Given the description of an element on the screen output the (x, y) to click on. 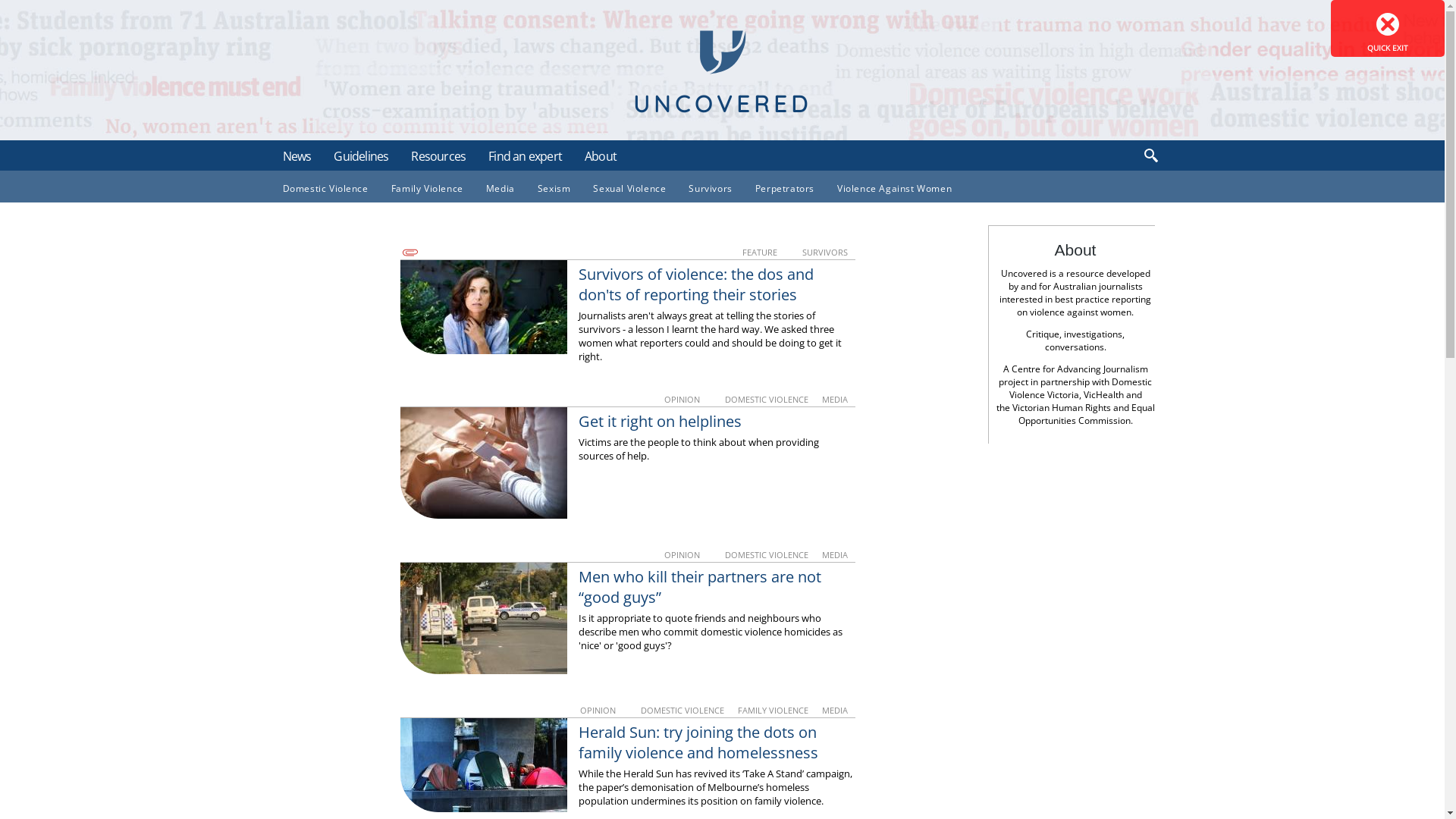
Domestic Violence Element type: text (324, 188)
QUICK EXIT Element type: text (1387, 28)
Family Violence Element type: text (427, 188)
Survivors Element type: text (709, 188)
Resources Element type: text (438, 155)
MEDIA Element type: text (834, 554)
About Element type: text (600, 155)
Guidelines Element type: text (360, 155)
FEATURE Element type: text (759, 251)
Find an expert Element type: text (524, 155)
FAMILY VIOLENCE Element type: text (773, 709)
DOMESTIC VIOLENCE Element type: text (767, 398)
Home Element type: hover (721, 51)
UNCOVERED Element type: text (721, 103)
OPINION Element type: text (683, 554)
Sexual Violence Element type: text (629, 188)
Sexism Element type: text (554, 188)
DOMESTIC VIOLENCE Element type: text (682, 709)
OPINION Element type: text (683, 398)
SURVIVORS Element type: text (824, 251)
MEDIA Element type: text (834, 709)
MEDIA Element type: text (834, 398)
Perpetrators Element type: text (784, 188)
Media Element type: text (500, 188)
News Element type: text (296, 155)
DOMESTIC VIOLENCE Element type: text (767, 554)
OPINION Element type: text (598, 709)
Violence Against Women Element type: text (894, 188)
Get it right on helplines Element type: text (658, 421)
Search... Element type: hover (1059, 155)
Skip to main content Element type: text (0, 0)
